Given the description of an element on the screen output the (x, y) to click on. 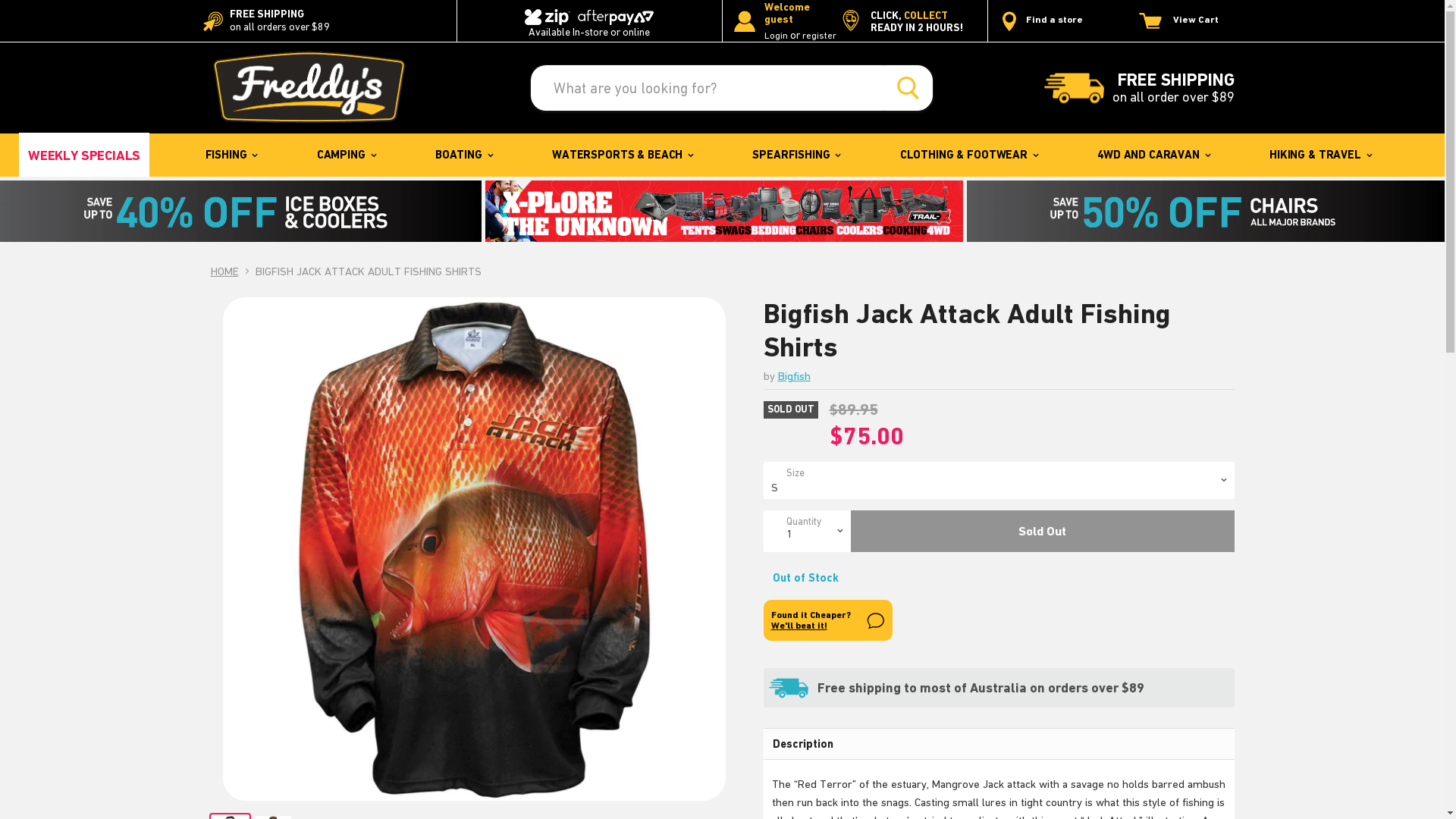
BOATING Element type: text (462, 154)
Find a store Element type: text (1040, 20)
CAMPING Element type: text (345, 154)
SPEARFISHING Element type: text (795, 154)
Bigfish Element type: text (794, 375)
Login Element type: text (775, 35)
Found it Cheaper? We'll beat it! Element type: text (826, 619)
register Element type: text (819, 35)
WEEKLY SPECIALS Element type: text (83, 154)
FISHING Element type: text (230, 154)
HOME Element type: text (224, 270)
HIKING & TRAVEL Element type: text (1319, 154)
View Cart Element type: text (1190, 21)
CLOTHING & FOOTWEAR Element type: text (967, 154)
Sold Out Element type: text (1042, 531)
WATERSPORTS & BEACH Element type: text (621, 154)
4WD AND CARAVAN Element type: text (1153, 154)
